Given the description of an element on the screen output the (x, y) to click on. 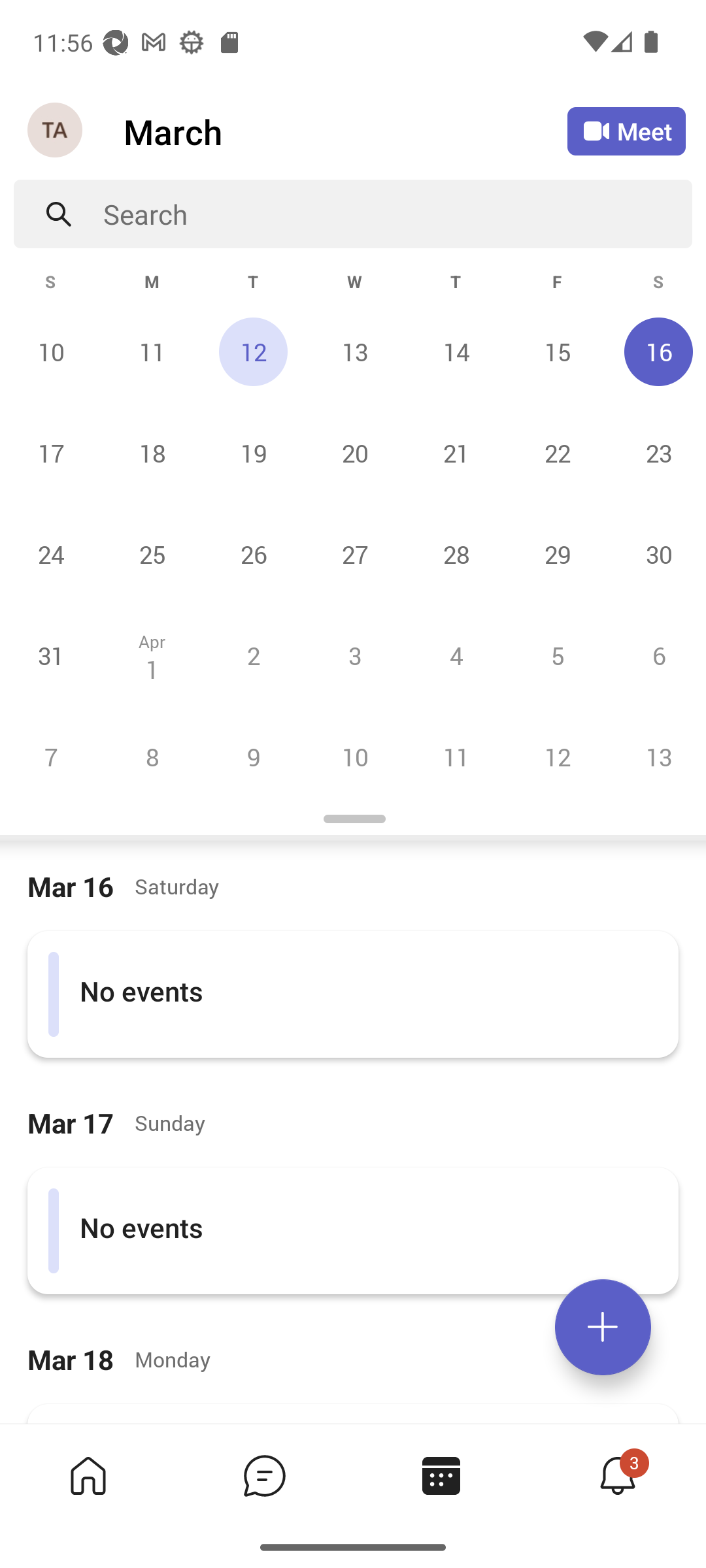
Navigation (56, 130)
Meet Meet now or join with an ID (626, 130)
March March Calendar Agenda View (345, 131)
Search (397, 213)
Sunday, March 10 10 (50, 351)
Monday, March 11 11 (151, 351)
Tuesday, March 12, Today 12 (253, 351)
Wednesday, March 13 13 (354, 351)
Thursday, March 14 14 (455, 351)
Friday, March 15 15 (556, 351)
Saturday, March 16, Selected 16 (656, 351)
Sunday, March 17 17 (50, 452)
Monday, March 18 18 (151, 452)
Tuesday, March 19 19 (253, 452)
Wednesday, March 20 20 (354, 452)
Thursday, March 21 21 (455, 452)
Friday, March 22 22 (556, 452)
Saturday, March 23 23 (656, 452)
Sunday, March 24 24 (50, 554)
Monday, March 25 25 (151, 554)
Tuesday, March 26 26 (253, 554)
Wednesday, March 27 27 (354, 554)
Thursday, March 28 28 (455, 554)
Friday, March 29 29 (556, 554)
Saturday, March 30 30 (656, 554)
Sunday, March 31 31 (50, 655)
Monday, April 1 Apr 1 (151, 655)
Tuesday, April 2 2 (253, 655)
Wednesday, April 3 3 (354, 655)
Thursday, April 4 4 (455, 655)
Friday, April 5 5 (556, 655)
Saturday, April 6 6 (656, 655)
Sunday, April 7 7 (50, 756)
Monday, April 8 8 (151, 756)
Tuesday, April 9 9 (253, 756)
Wednesday, April 10 10 (354, 756)
Thursday, April 11 11 (455, 756)
Friday, April 12 12 (556, 756)
Saturday, April 13 13 (656, 756)
Expand meetings menu (602, 1327)
Home tab,1 of 4, not selected (88, 1475)
Chat tab,2 of 4, not selected (264, 1475)
Calendar tab, 3 of 4 (441, 1475)
Activity tab,4 of 4, not selected, 3 new 3 (617, 1475)
